Given the description of an element on the screen output the (x, y) to click on. 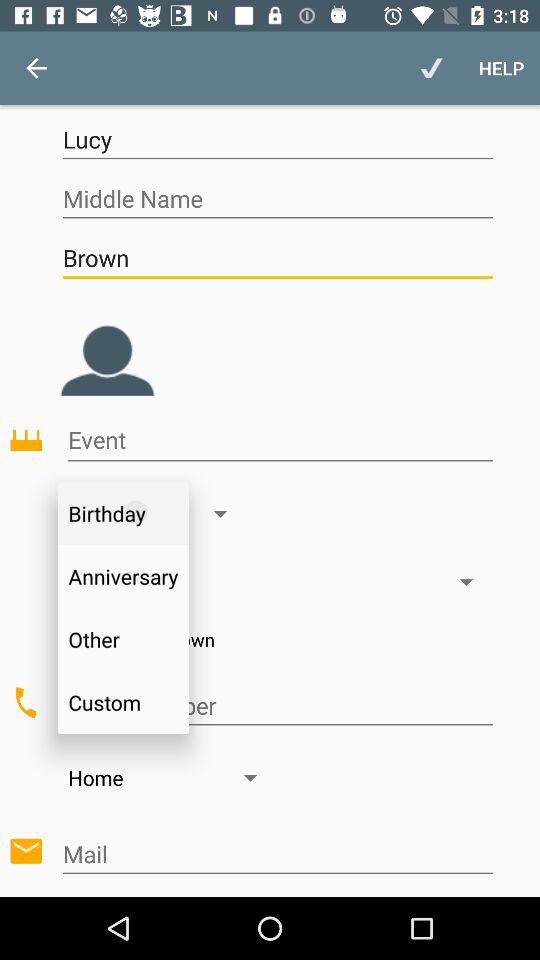
add email address (277, 854)
